Given the description of an element on the screen output the (x, y) to click on. 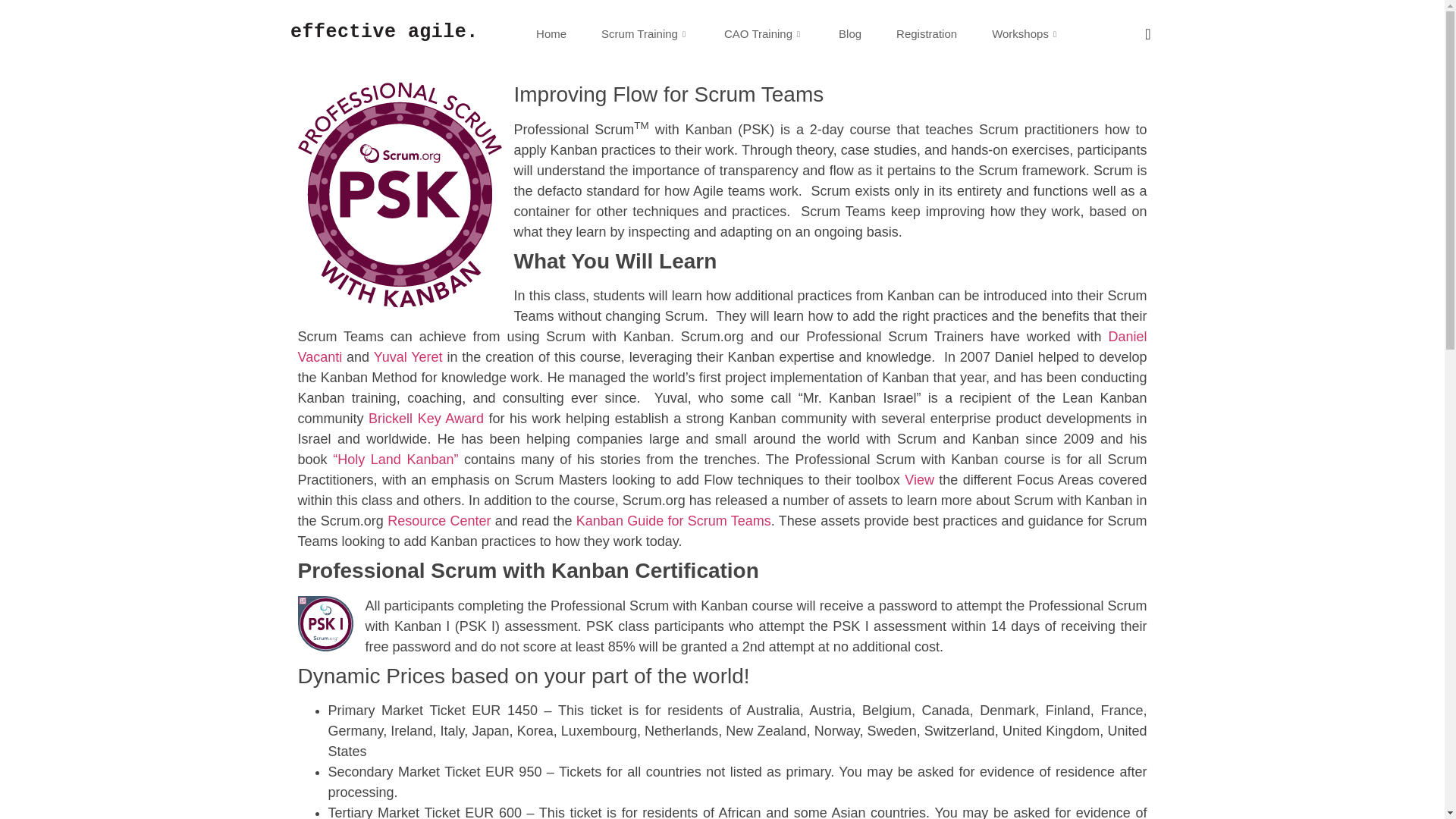
Daniel Vacanti (722, 346)
Brickell Key Award (425, 418)
Resource Center (438, 520)
Home (550, 33)
Professional Scrum Training Competency Mapping (919, 479)
Workshops (1025, 33)
Registration (926, 33)
CAO Training (763, 33)
Yuval Yeret (408, 356)
Kanban Guide for Scrum Teams (673, 520)
